Given the description of an element on the screen output the (x, y) to click on. 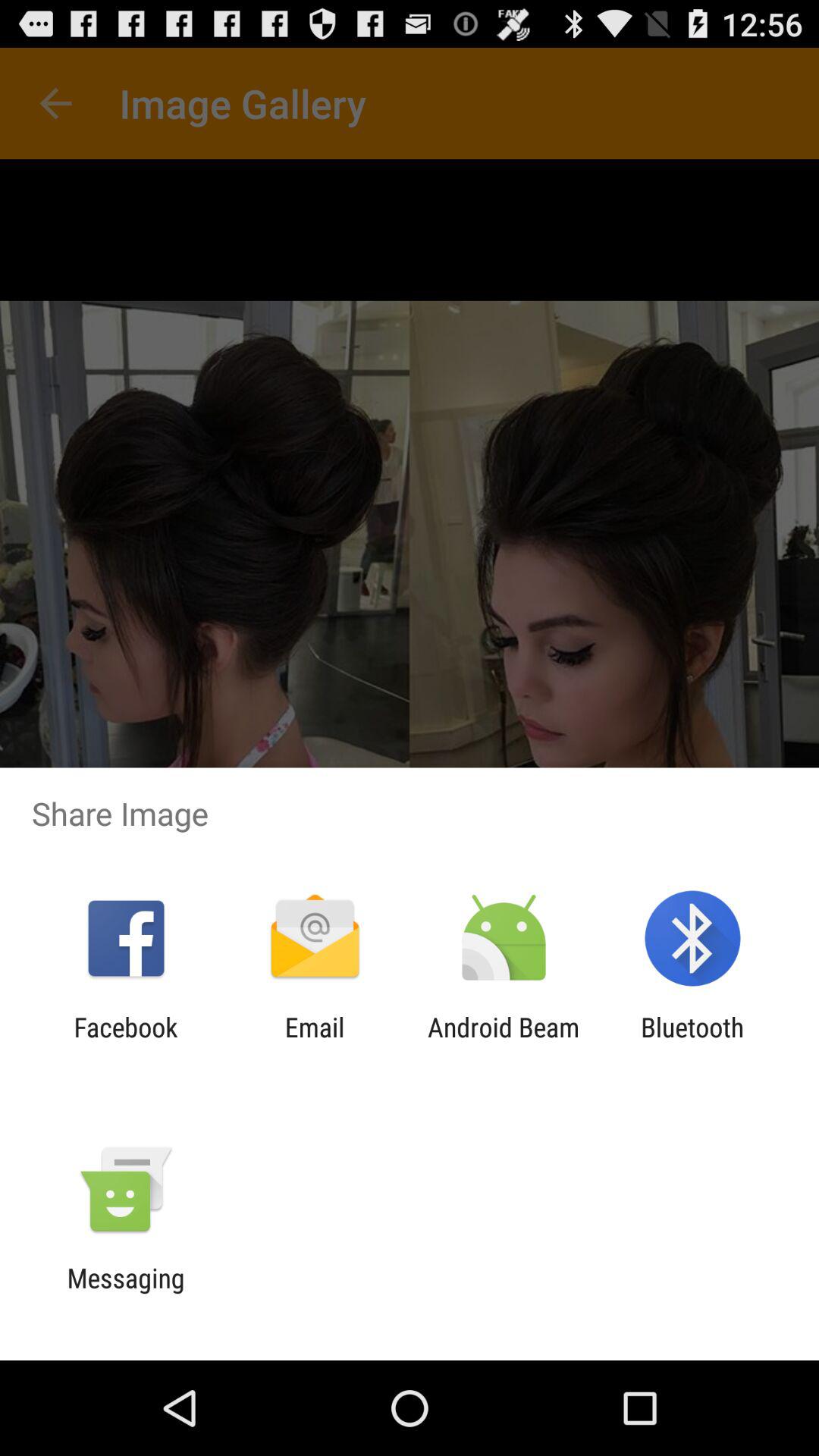
turn off the facebook (125, 1042)
